Given the description of an element on the screen output the (x, y) to click on. 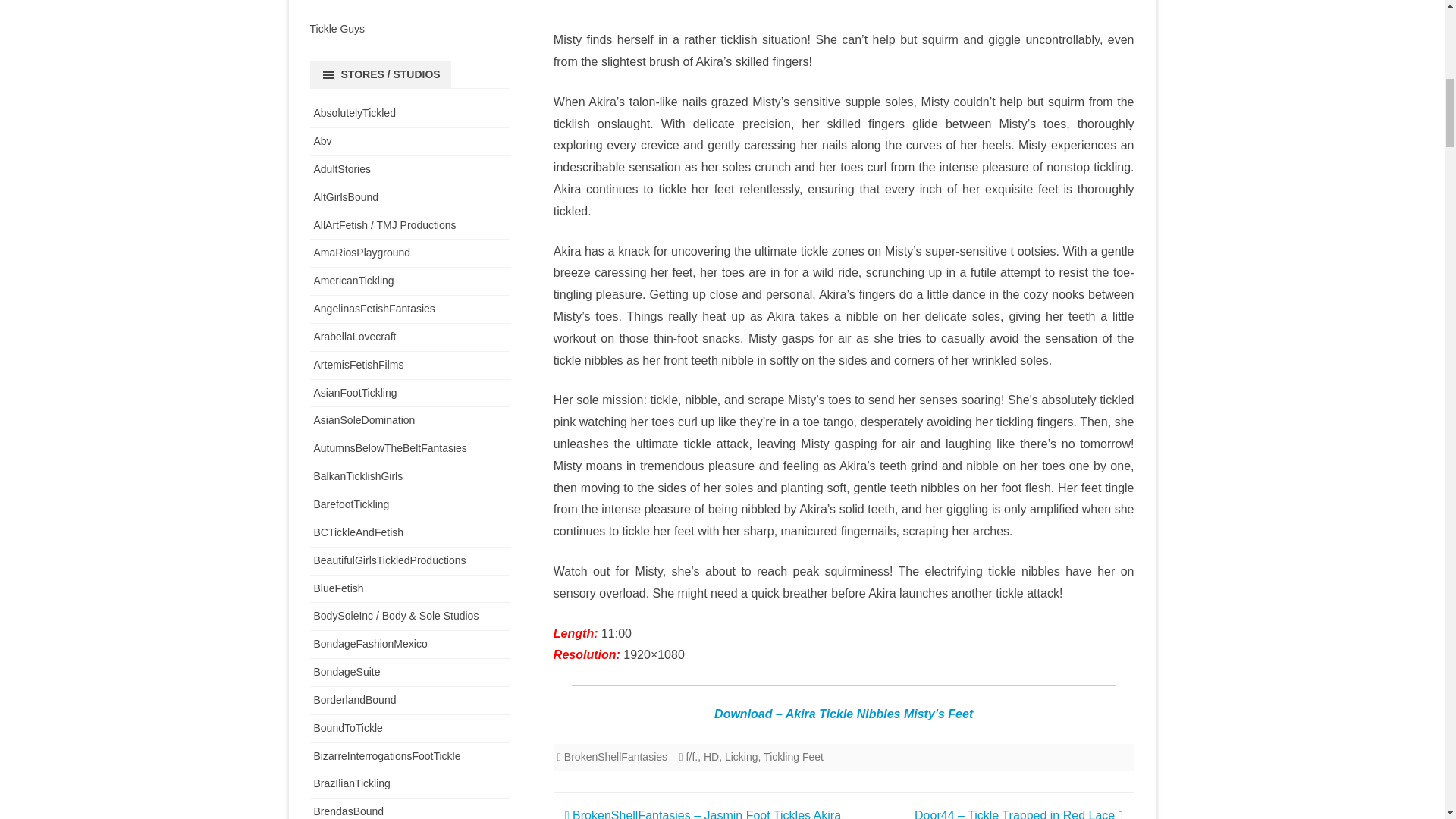
Licking (741, 756)
Tickling Feet (793, 756)
HD (711, 756)
BrokenShellFantasies (615, 756)
